Given the description of an element on the screen output the (x, y) to click on. 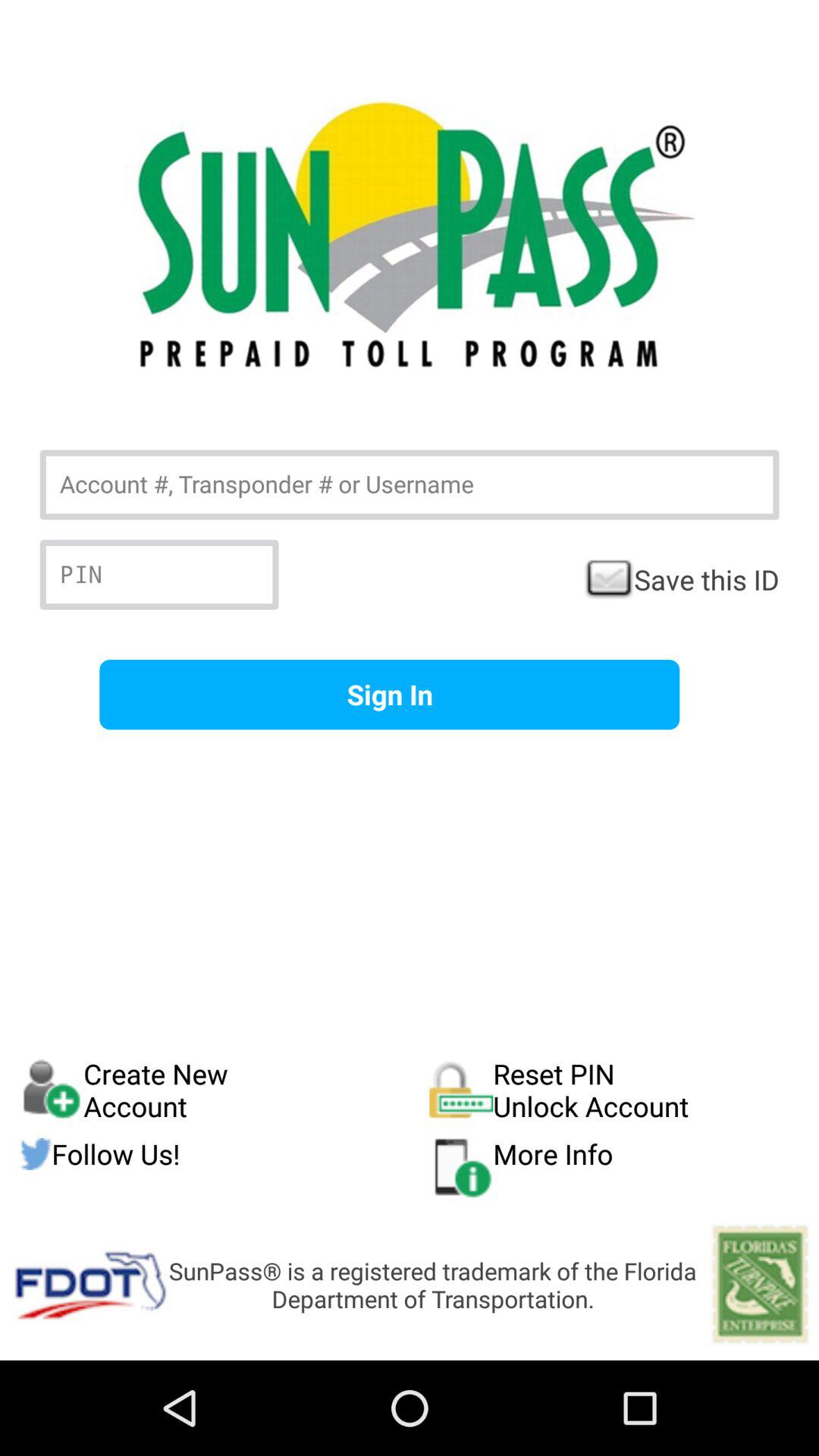
click checkbox on the right (681, 579)
